Given the description of an element on the screen output the (x, y) to click on. 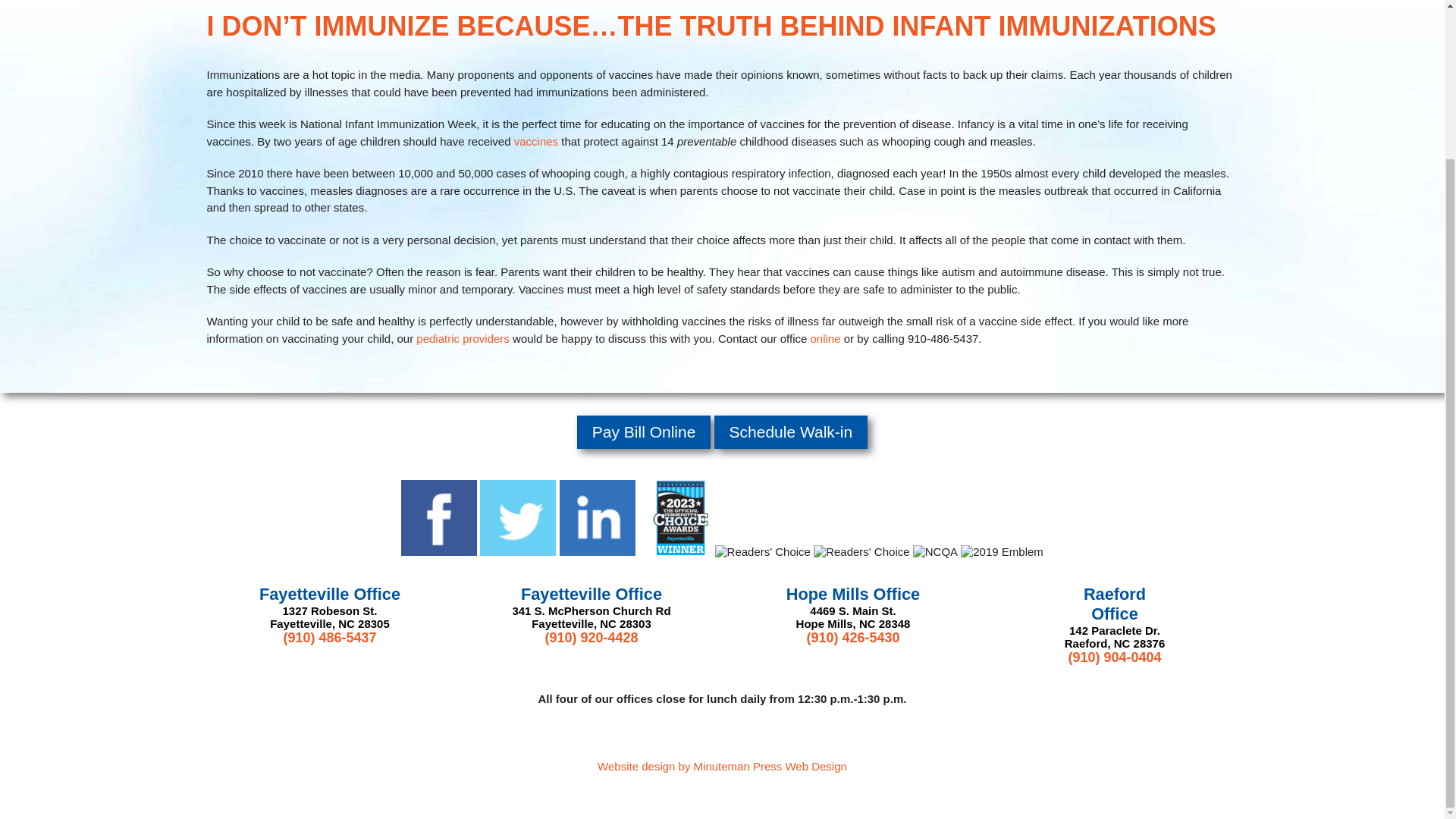
Pay Bill Online (643, 431)
vaccines (535, 140)
online (824, 337)
pediatric providers (462, 337)
Schedule Walk-in (790, 431)
Website design by Minuteman Press Web Design (721, 765)
